Given the description of an element on the screen output the (x, y) to click on. 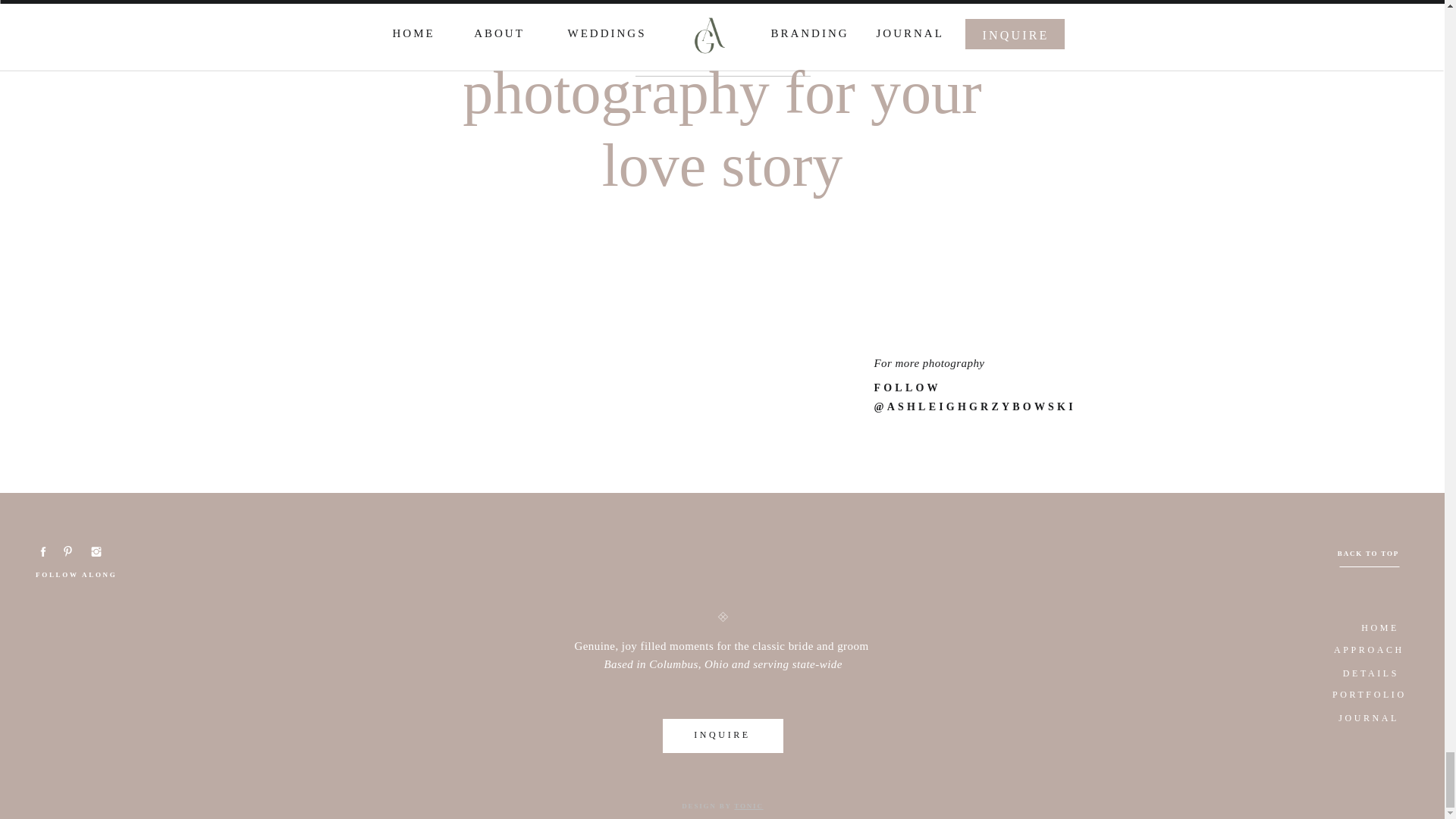
INQUIRE ABOUT YOUR DATE (722, 64)
Romantic photography for your love story (721, 10)
FOLLOW ALONG (81, 576)
BACK TO TOP (1366, 553)
INQUIRE (721, 734)
